Given the description of an element on the screen output the (x, y) to click on. 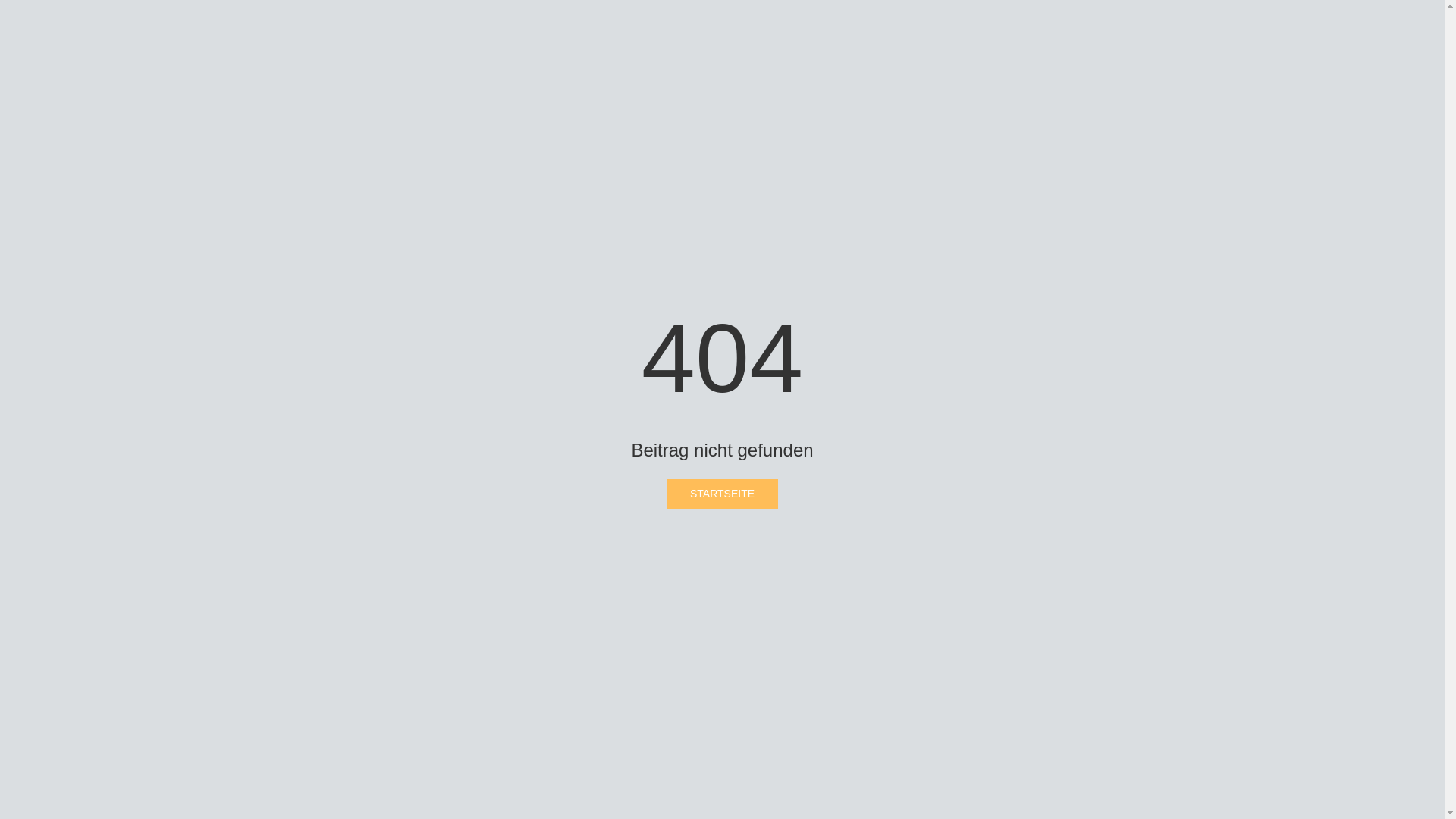
STARTSEITE Element type: text (722, 493)
